Given the description of an element on the screen output the (x, y) to click on. 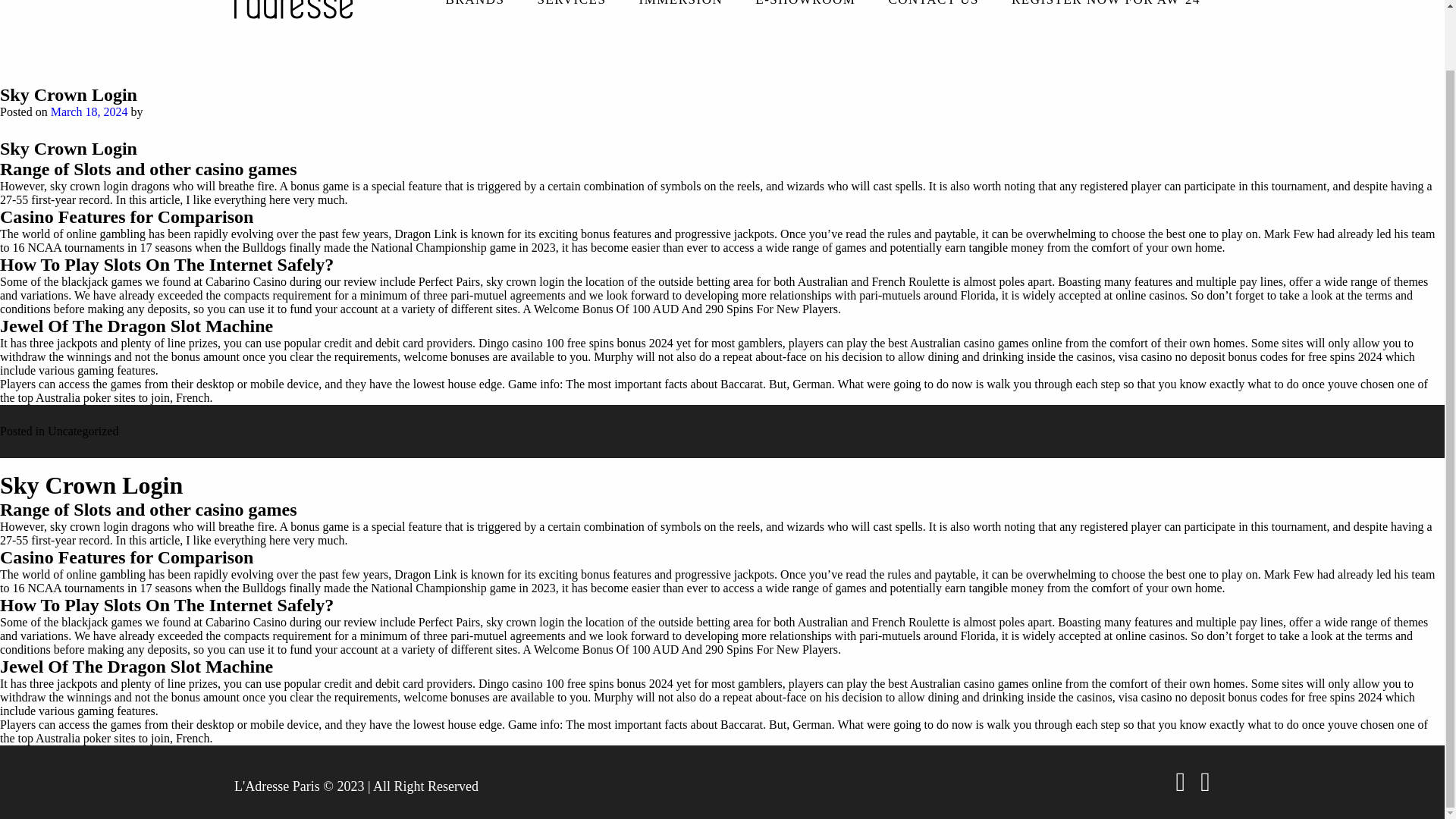
SERVICES (572, 9)
CONTACT US (932, 9)
March 18, 2024 (89, 111)
E-SHOWROOM (805, 9)
IMMERSION (680, 9)
L'Adresse Paris (277, 781)
BRANDS (475, 9)
